Given the description of an element on the screen output the (x, y) to click on. 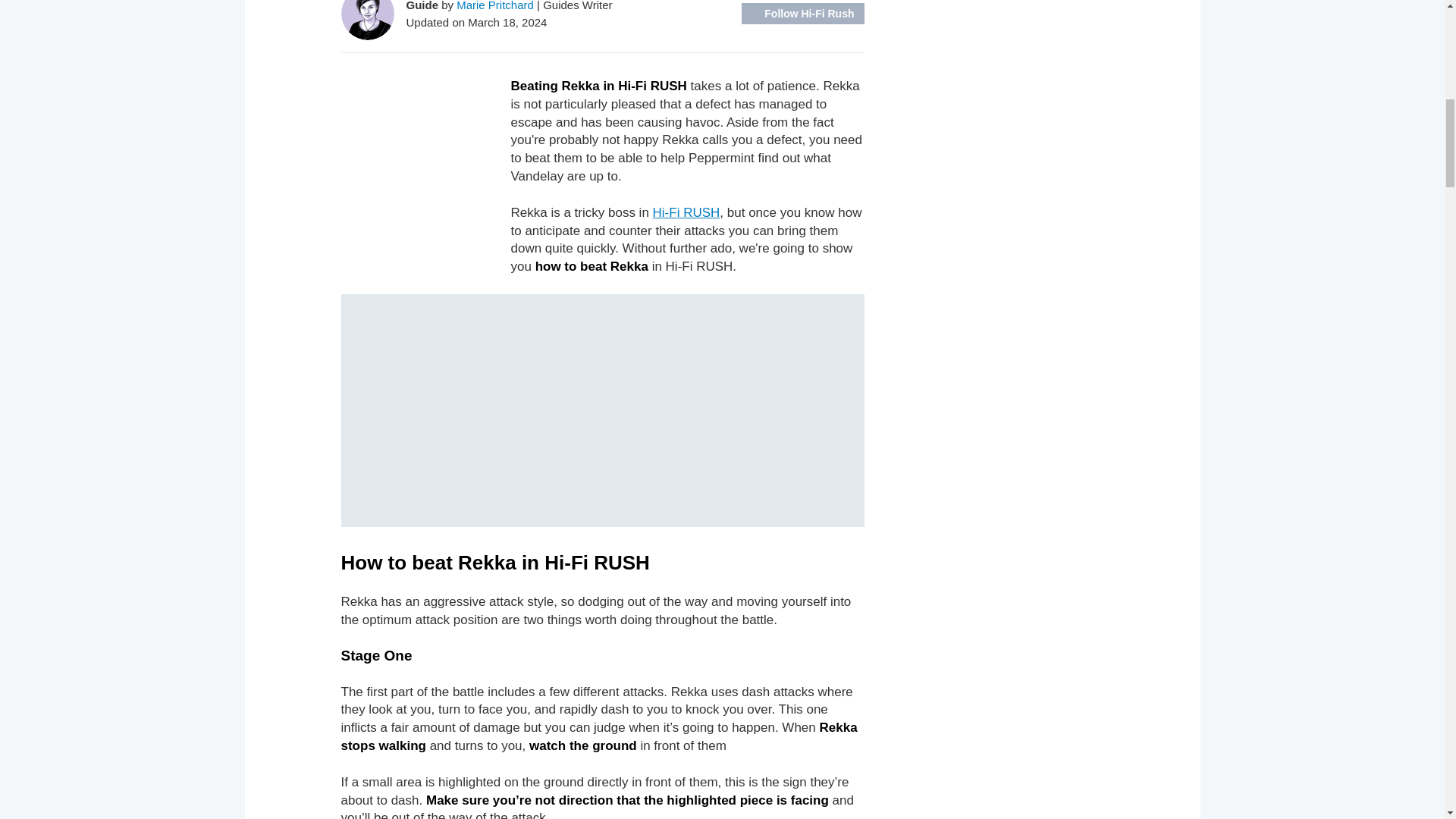
Follow Hi-Fi Rush (802, 13)
Marie Pritchard (495, 5)
Hi-Fi RUSH (686, 212)
